Given the description of an element on the screen output the (x, y) to click on. 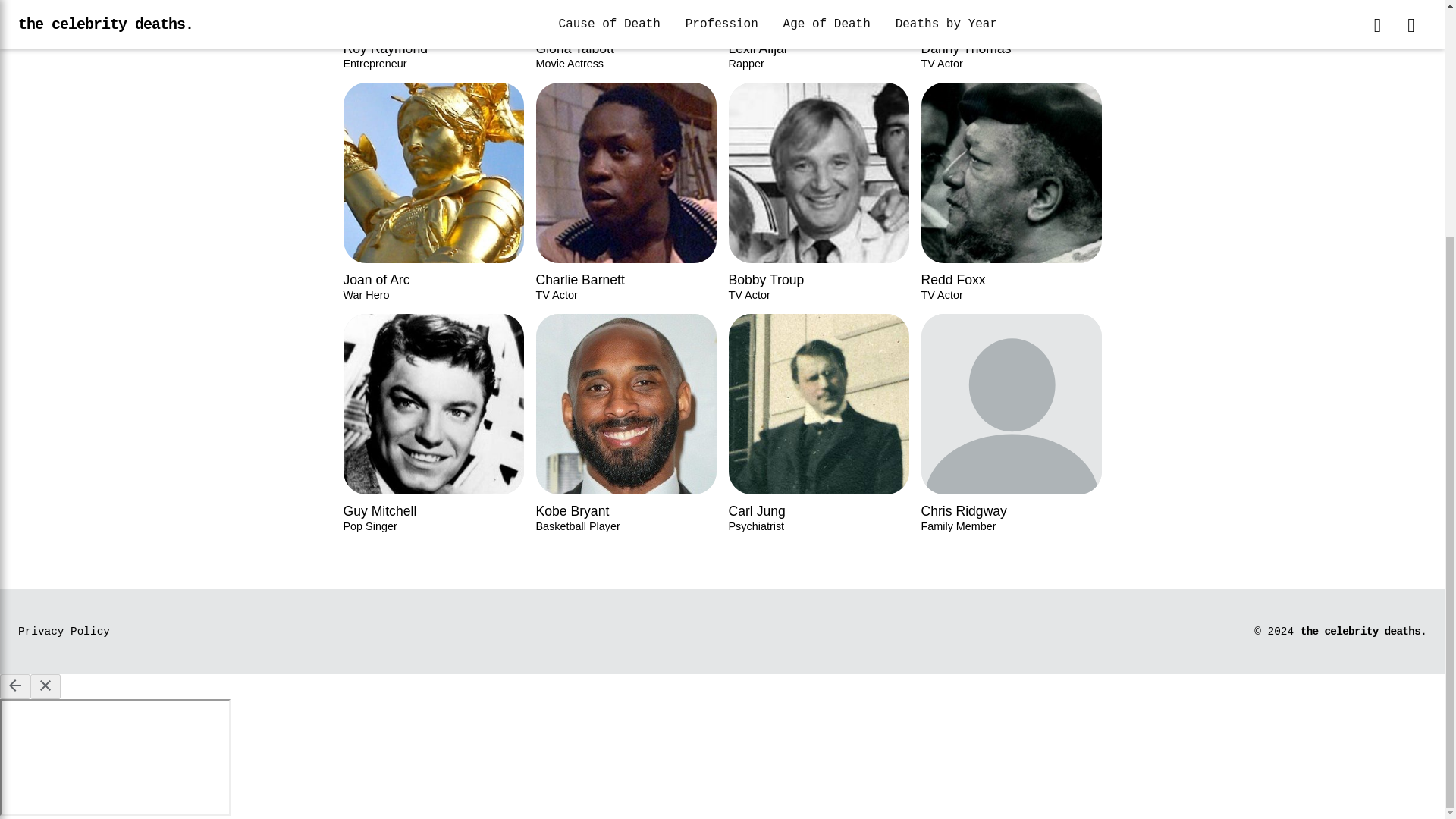
Gloria Talbott (818, 35)
Lexii Alijai (432, 35)
Danny Thomas (625, 35)
Roy Raymond (625, 35)
Privacy Policy (818, 35)
